Given the description of an element on the screen output the (x, y) to click on. 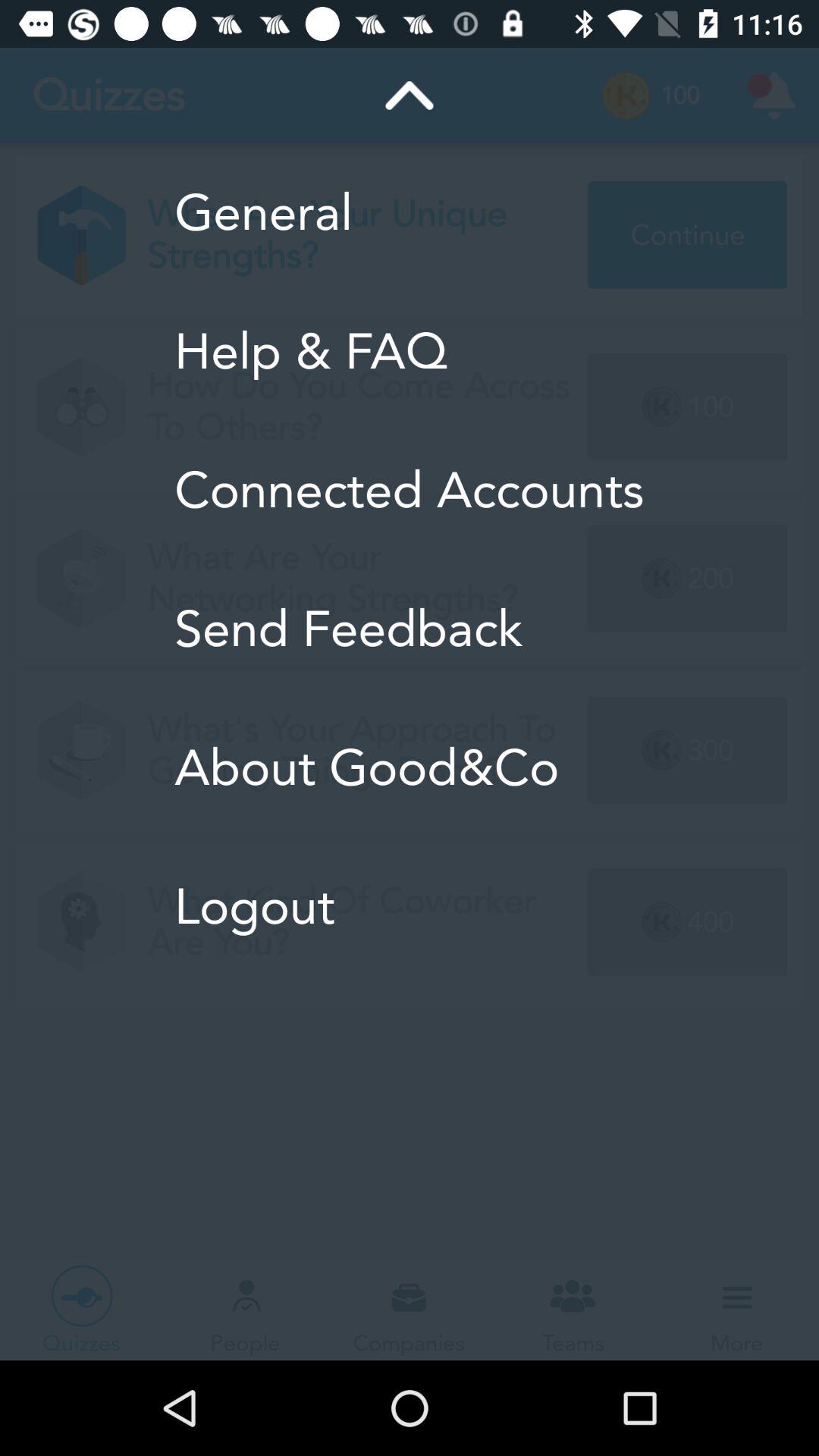
click item above connected accounts (408, 351)
